Given the description of an element on the screen output the (x, y) to click on. 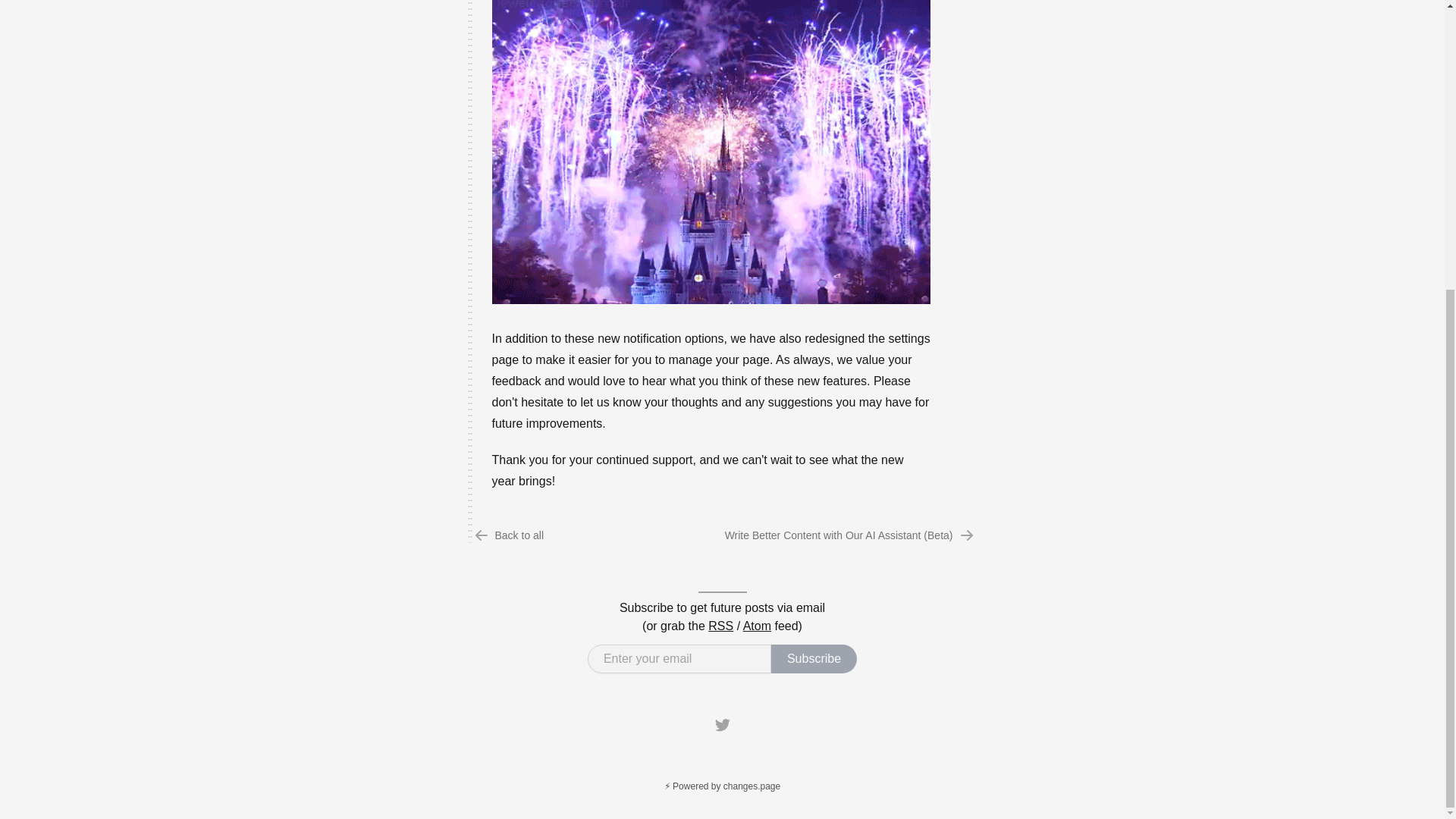
Subscribe (814, 658)
RSS (720, 625)
Atom (756, 625)
Twitter (721, 724)
Back to all (510, 528)
changes.page (721, 784)
